Given the description of an element on the screen output the (x, y) to click on. 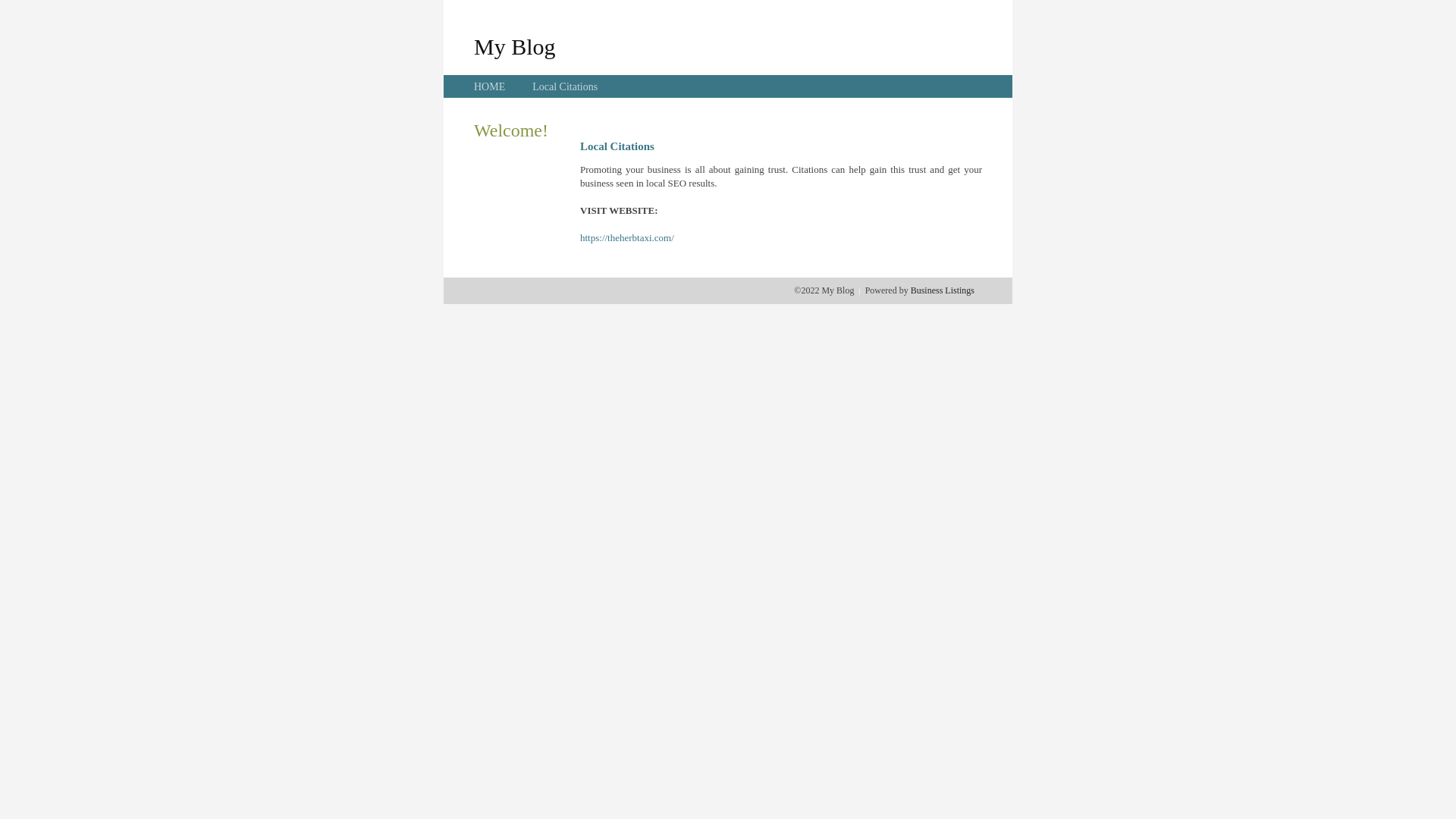
https://theherbtaxi.com/ Element type: text (627, 237)
Local Citations Element type: text (564, 86)
HOME Element type: text (489, 86)
Business Listings Element type: text (942, 290)
My Blog Element type: text (514, 46)
